Given the description of an element on the screen output the (x, y) to click on. 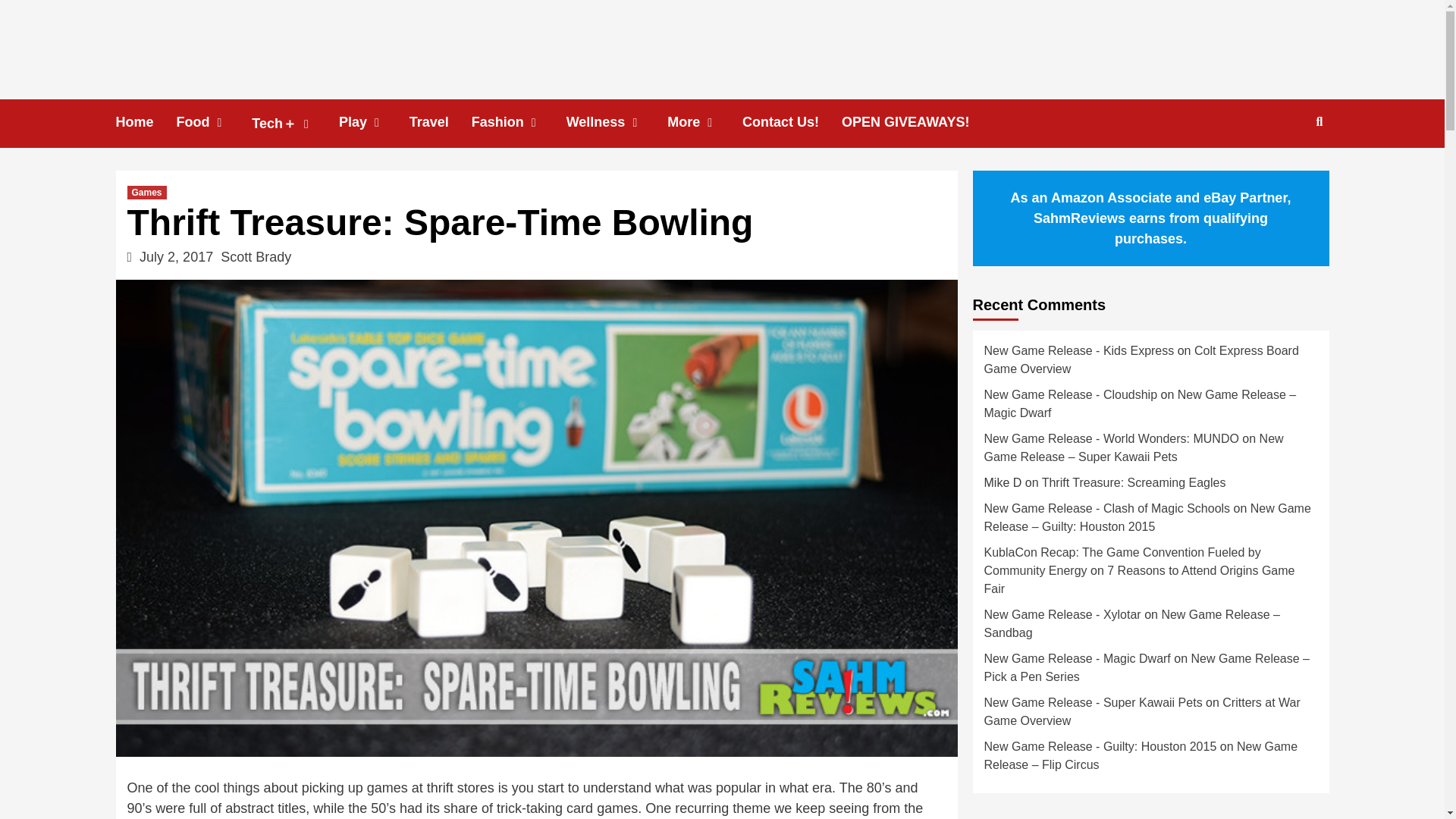
More (704, 122)
Play (374, 122)
Home (145, 122)
Wellness (617, 122)
Food (213, 122)
Travel (440, 122)
Fashion (518, 122)
